Given the description of an element on the screen output the (x, y) to click on. 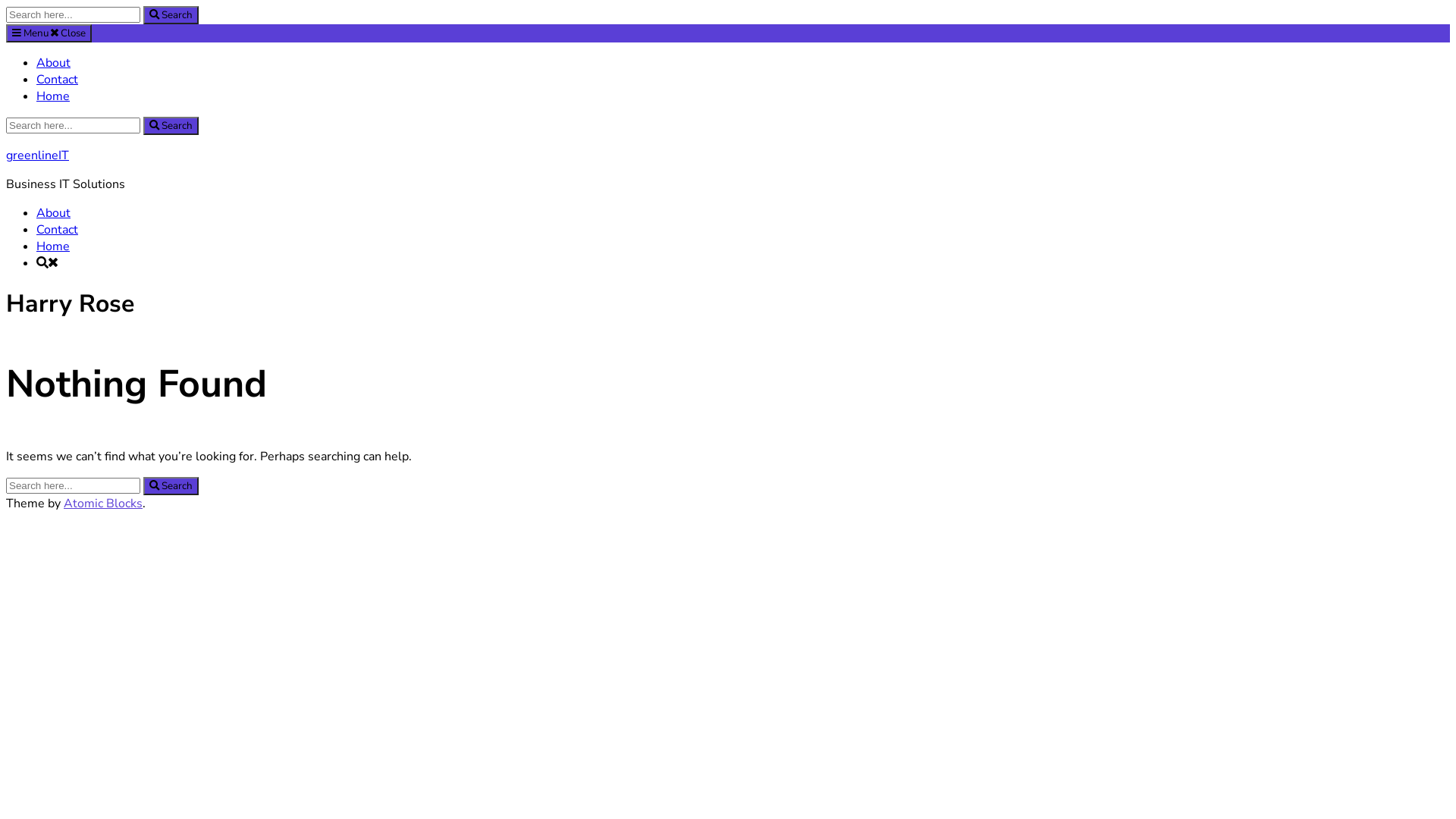
Contact Element type: text (57, 229)
greenlineIT Element type: text (37, 155)
Menu Close Element type: text (48, 33)
About Element type: text (53, 212)
Search Element type: text (170, 125)
Home Element type: text (52, 95)
Home Element type: text (52, 246)
Atomic Blocks Element type: text (102, 503)
Search Element type: text (170, 485)
Contact Element type: text (57, 79)
About Element type: text (53, 62)
Search Element type: text (170, 15)
